Given the description of an element on the screen output the (x, y) to click on. 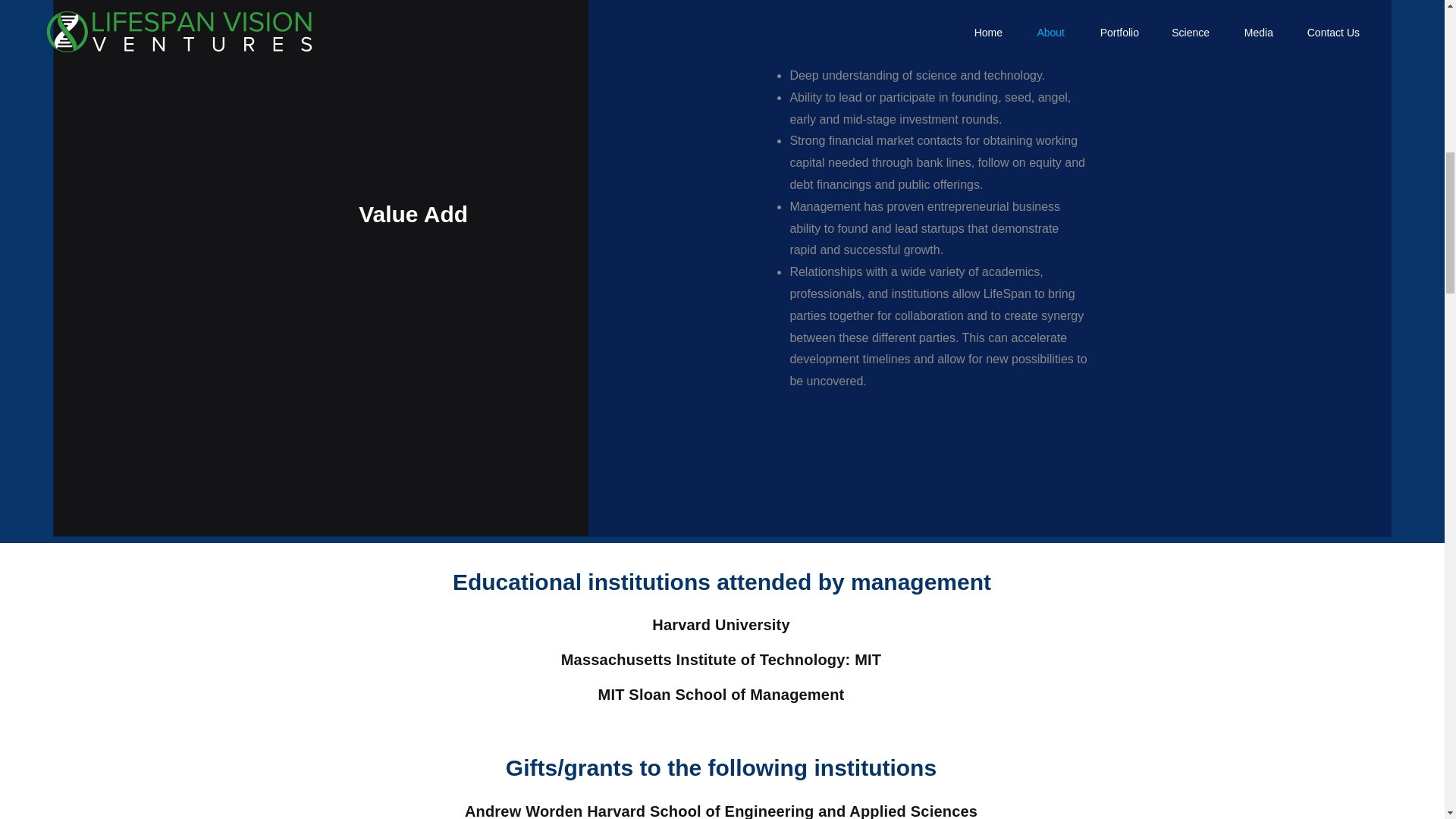
Harvard University (720, 624)
MIT Sloan School of Management (721, 694)
Massachusetts Institute of Technology: MIT (721, 659)
